Given the description of an element on the screen output the (x, y) to click on. 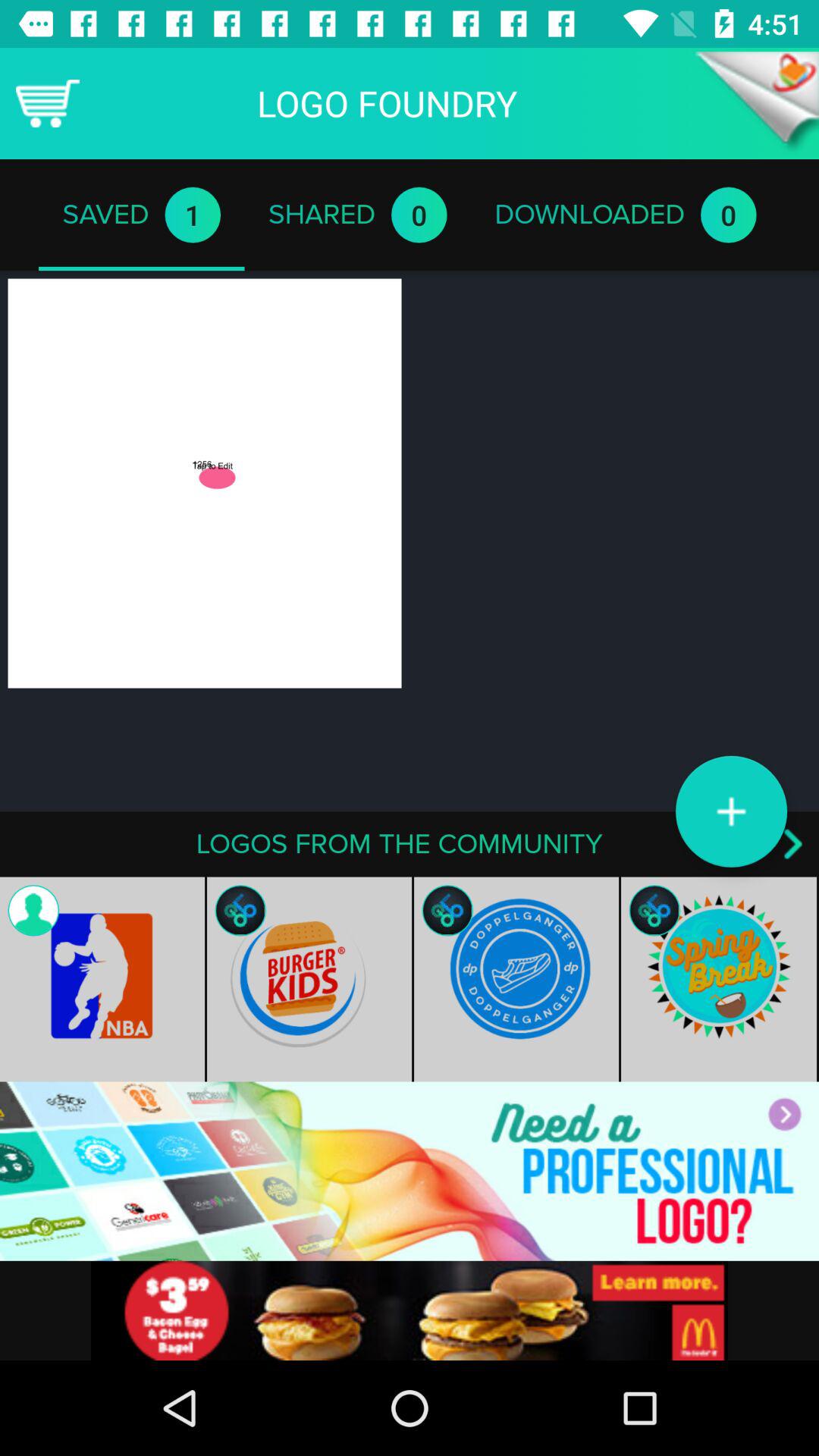
find out more (409, 1310)
